Given the description of an element on the screen output the (x, y) to click on. 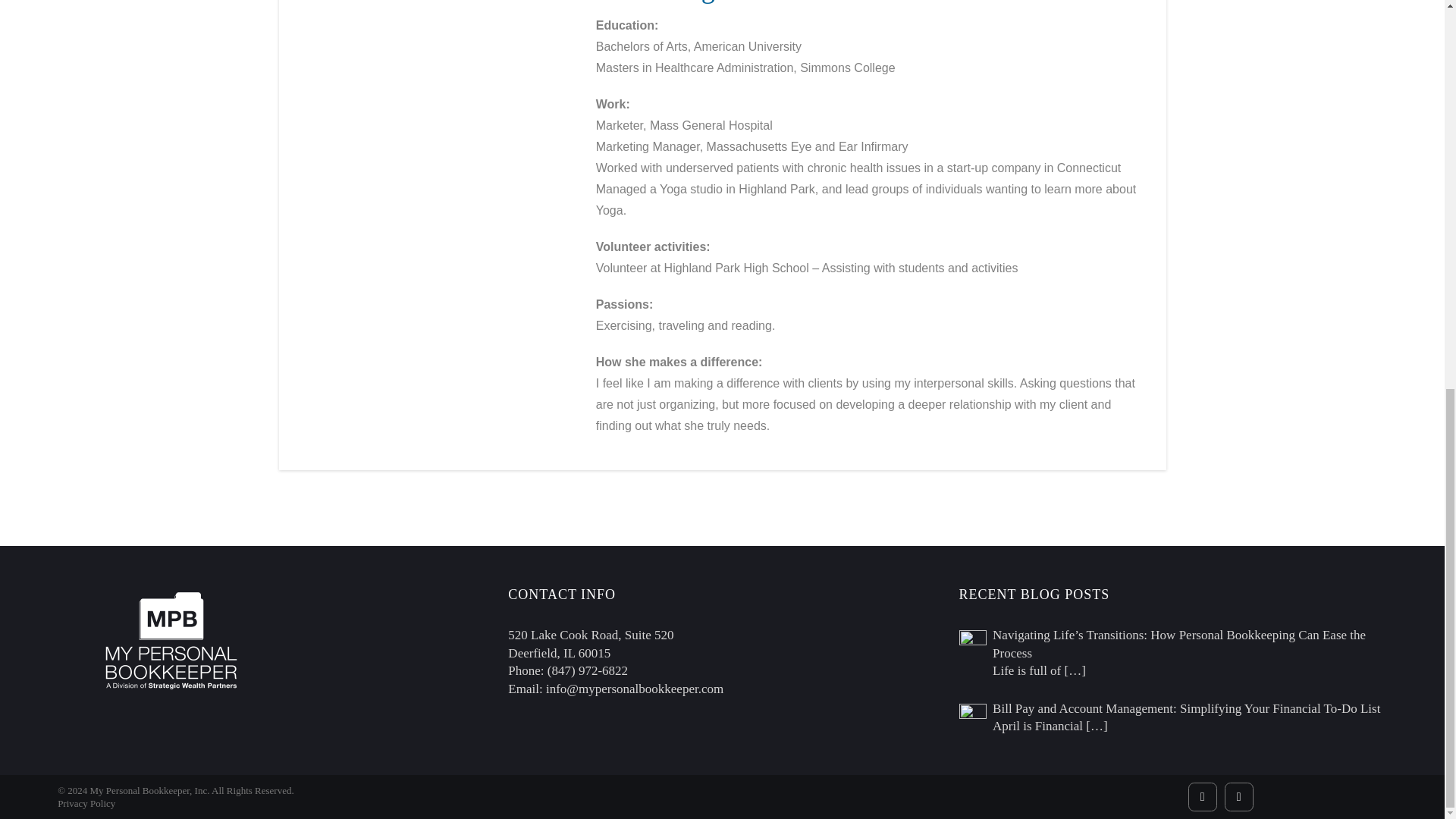
Facebook (1202, 796)
LinkedIn (1238, 796)
LinkedIn (1238, 796)
Facebook (1202, 796)
Privacy Policy (86, 803)
